Given the description of an element on the screen output the (x, y) to click on. 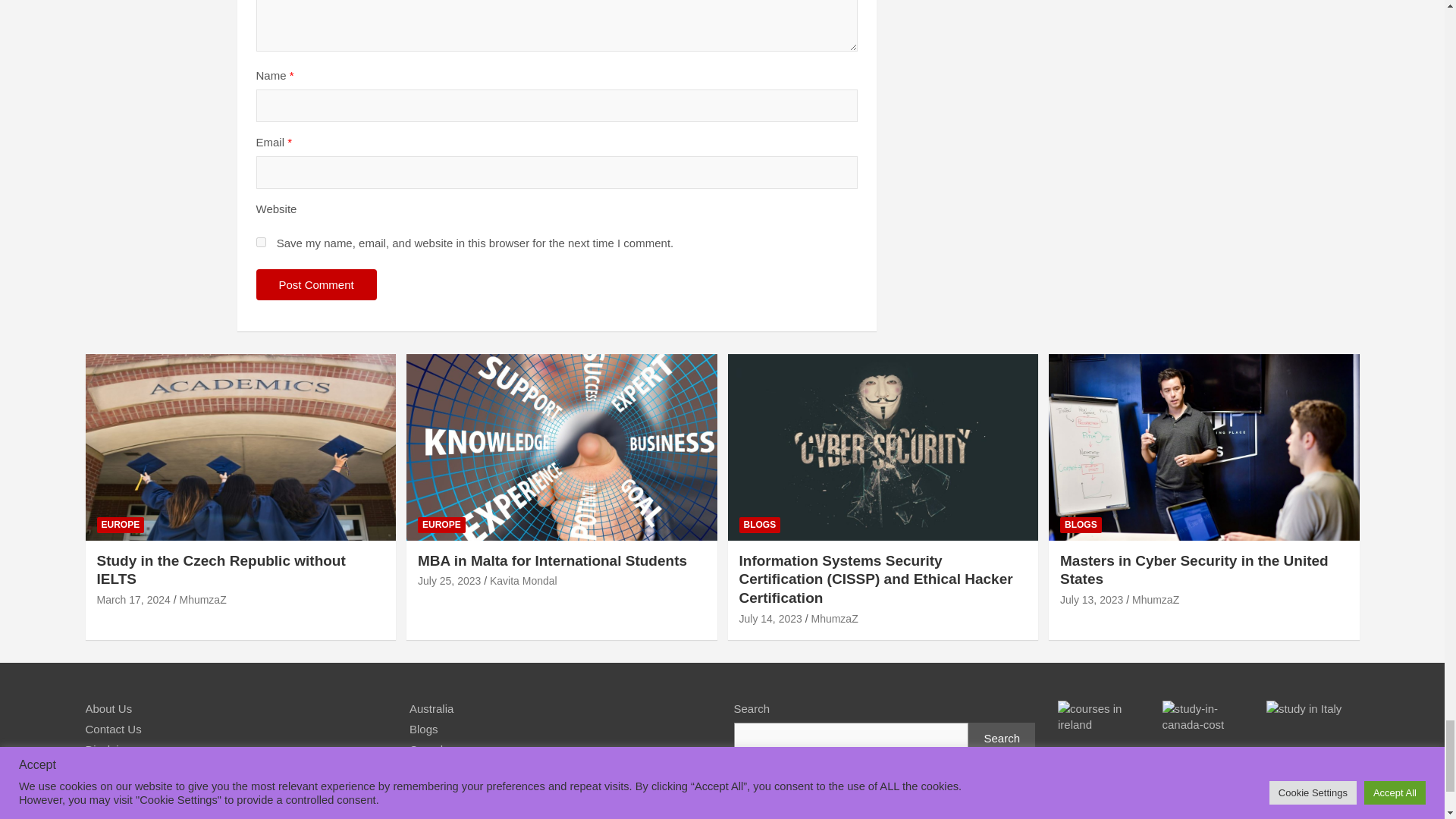
Post Comment (316, 284)
yes (261, 242)
